Given the description of an element on the screen output the (x, y) to click on. 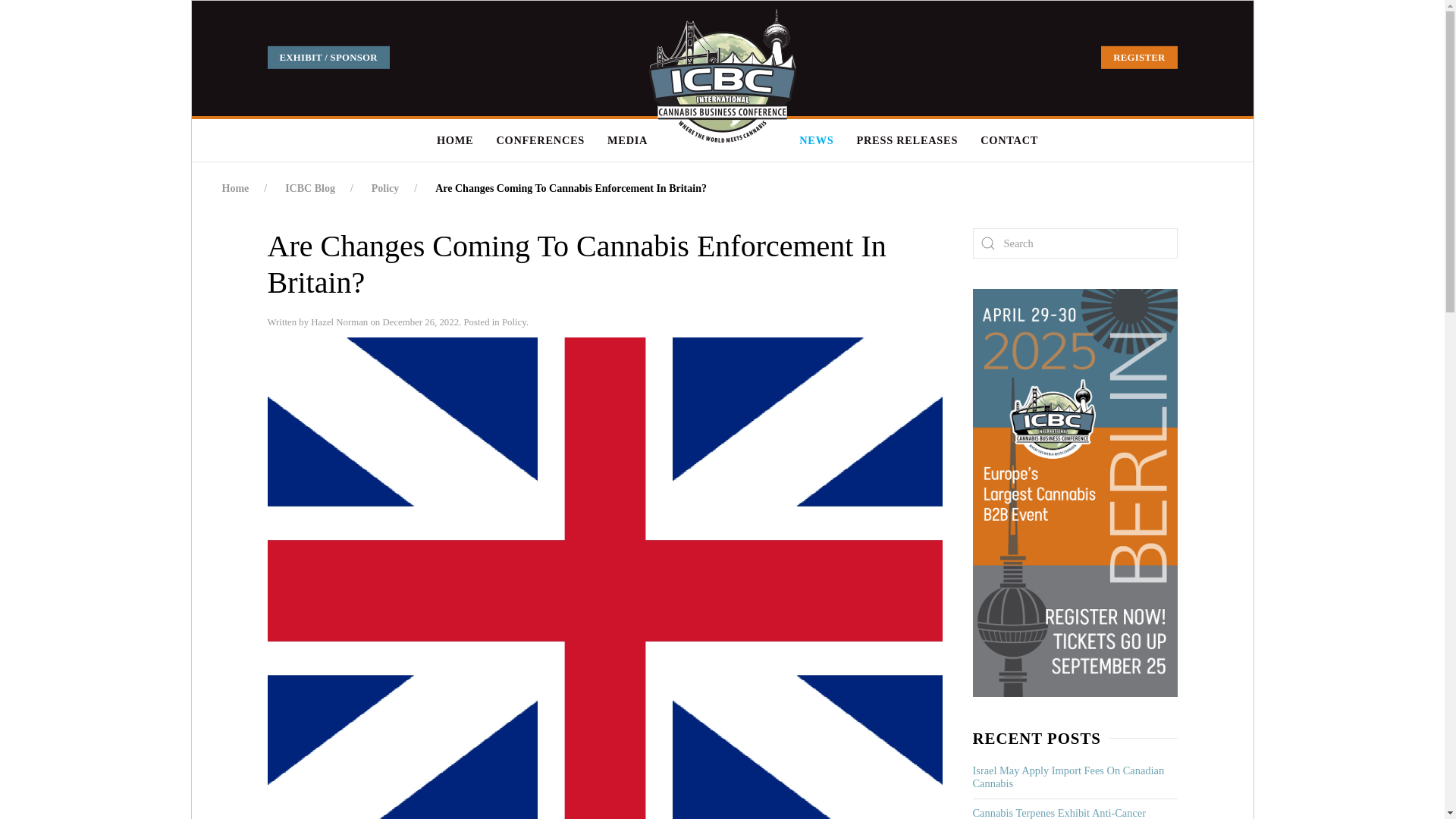
MEDIA (627, 139)
REGISTER (1138, 56)
CONFERENCES (540, 139)
